Given the description of an element on the screen output the (x, y) to click on. 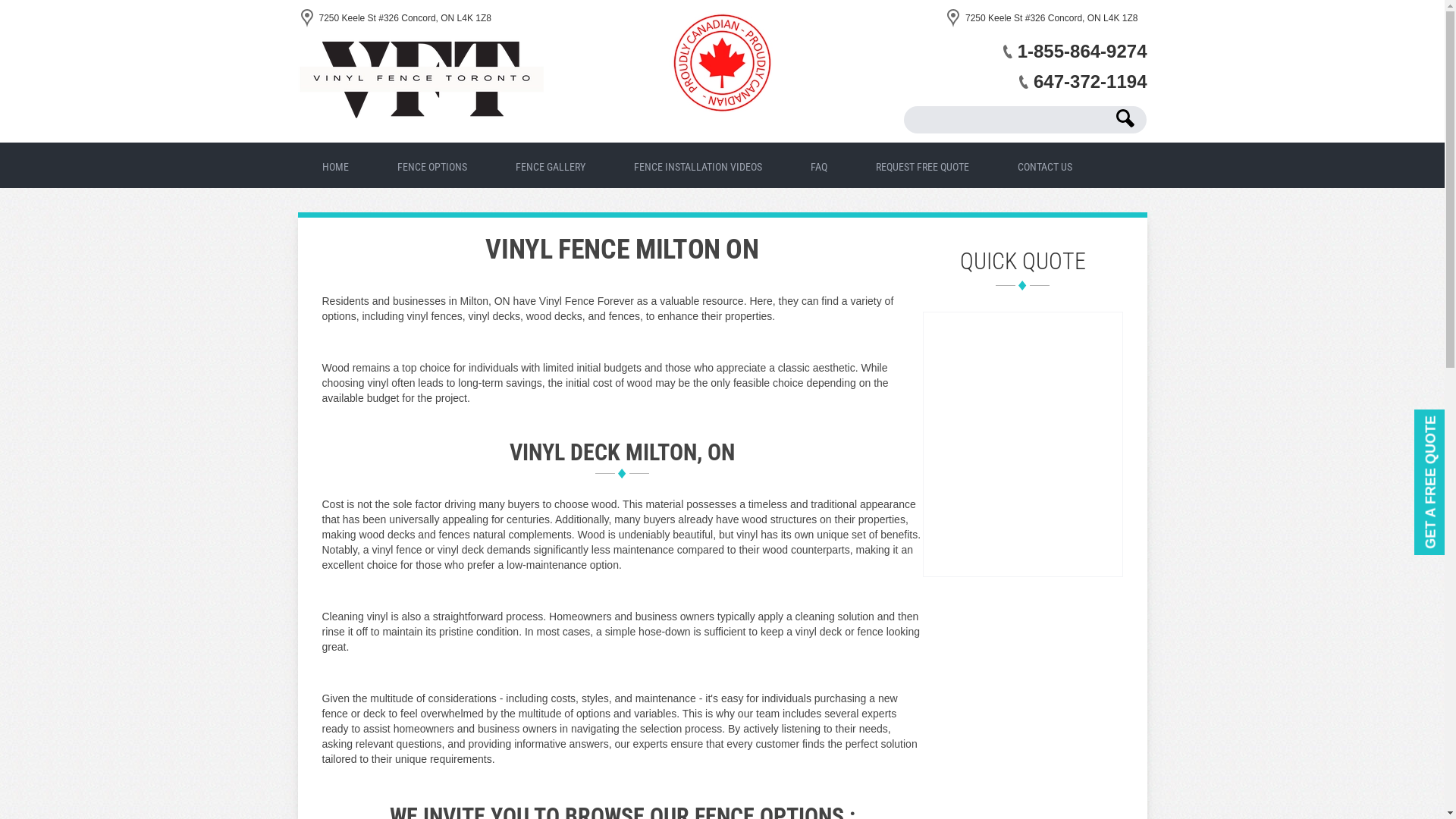
FENCE INSTALLATION VIDEOS (698, 164)
REQUEST FREE QUOTE (921, 164)
FENCE GALLERY (551, 164)
FAQ (818, 164)
FENCE OPTIONS (432, 164)
HOME (334, 164)
CONTACT US (1044, 164)
